Given the description of an element on the screen output the (x, y) to click on. 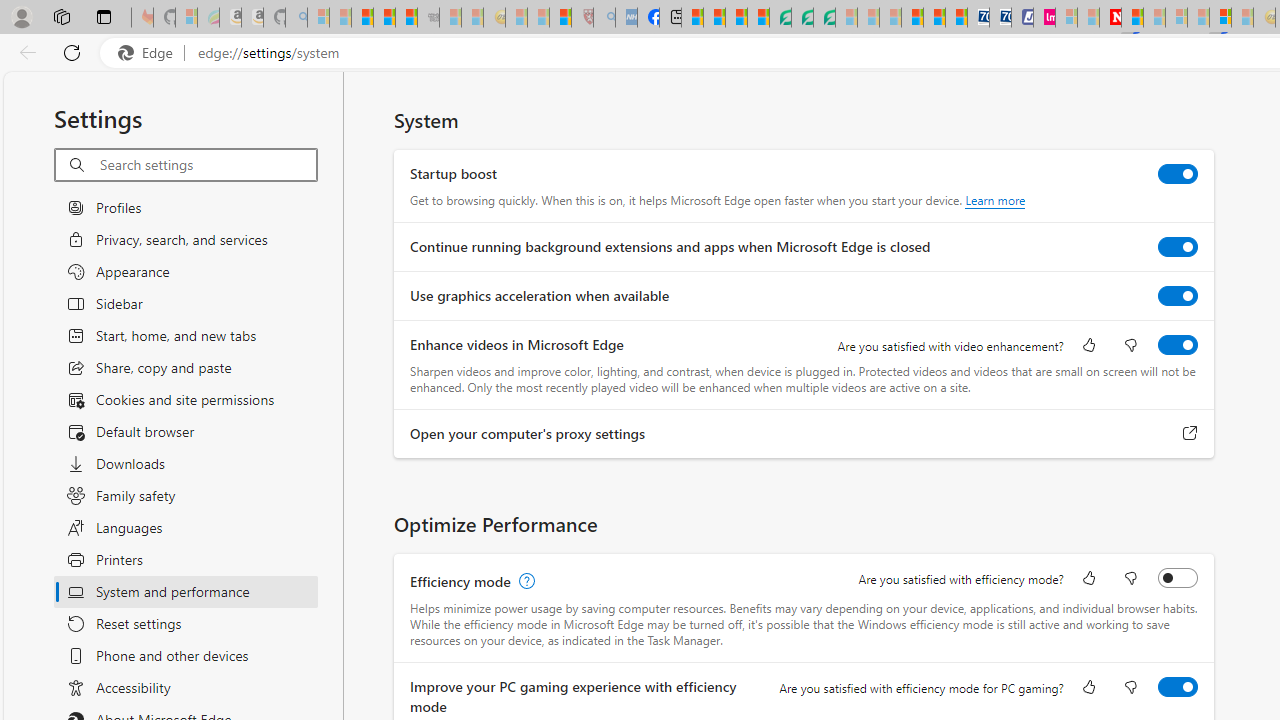
Improve your PC gaming experience with efficiency mode (1178, 686)
LendingTree - Compare Lenders (780, 17)
Enhance videos in Microsoft Edge (1178, 344)
Search settings (207, 165)
Terms of Use Agreement (802, 17)
